Given the description of an element on the screen output the (x, y) to click on. 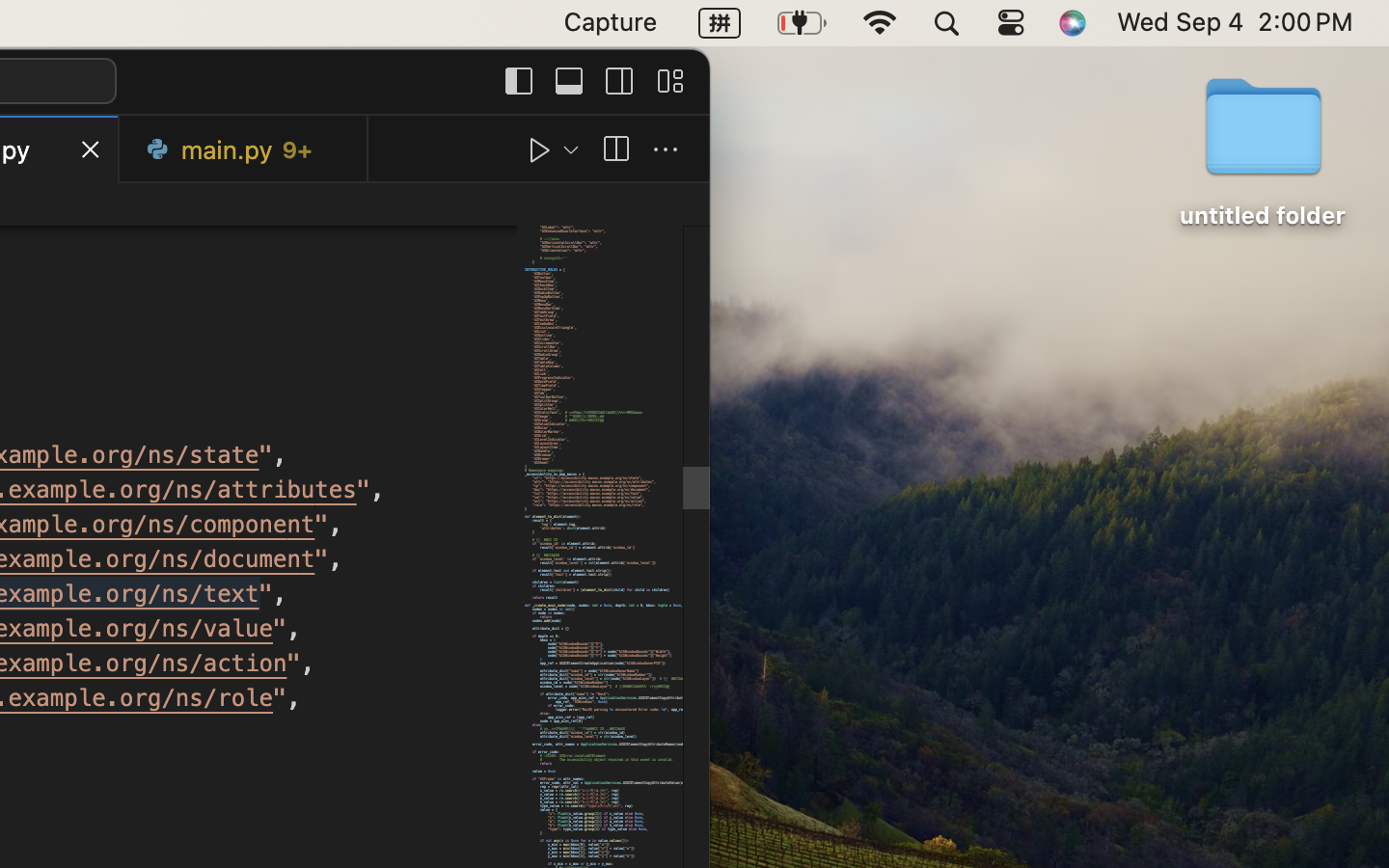
 Element type: AXCheckBox (518, 80)
 Element type: AXCheckBox (568, 80)
 Element type: AXButton (539, 150)
